Given the description of an element on the screen output the (x, y) to click on. 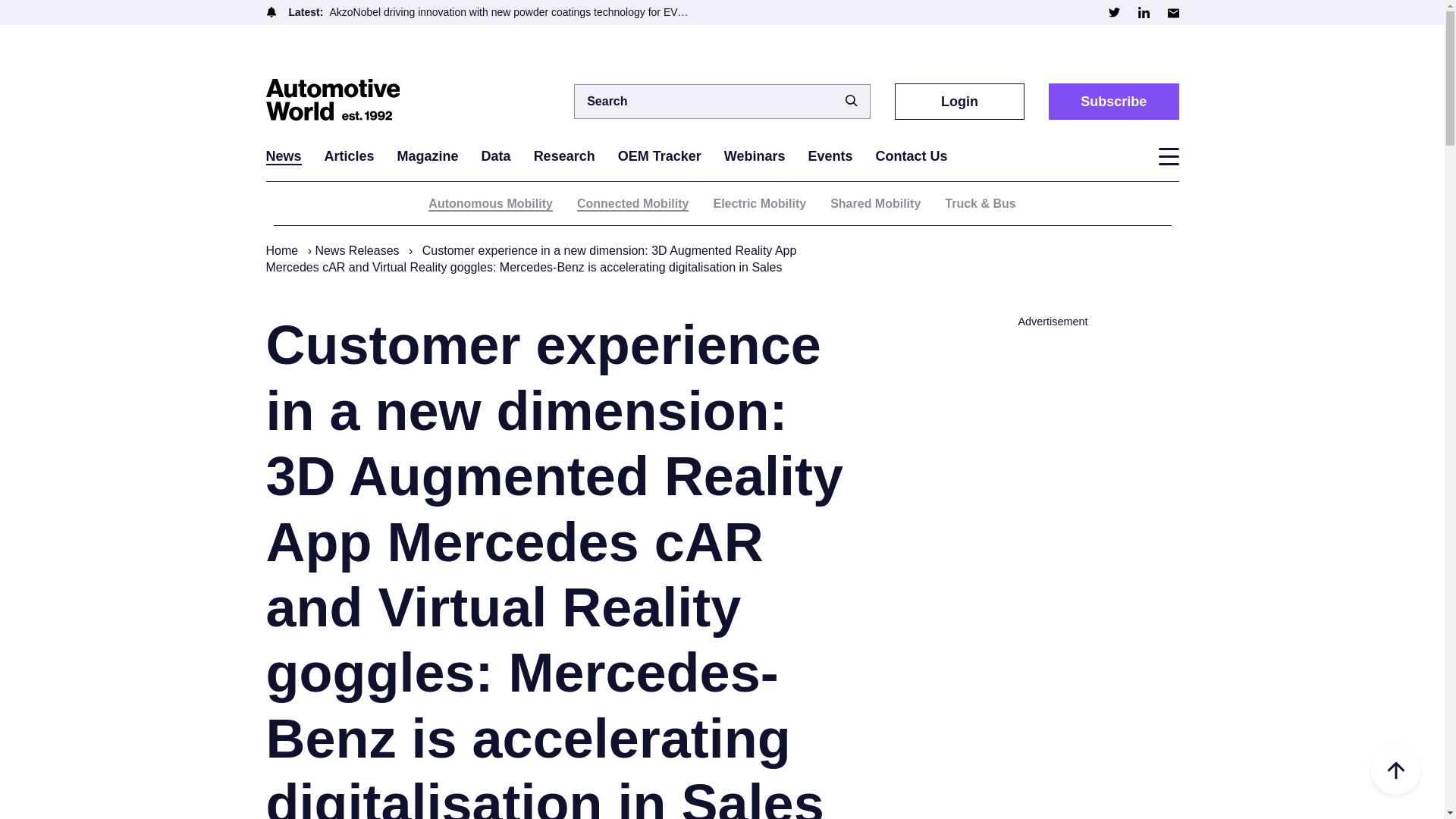
Magazine (427, 155)
Login (960, 100)
Shared Mobility (874, 203)
Articles (349, 155)
Login (960, 100)
Automotive World (340, 101)
Linkedin (1142, 12)
Electric Mobility (759, 203)
News (282, 156)
Subscribe (1112, 100)
Autonomous Mobility (490, 204)
Connected Mobility (632, 204)
Twitter (1113, 12)
Log In (936, 356)
Subscribe (1112, 100)
